Given the description of an element on the screen output the (x, y) to click on. 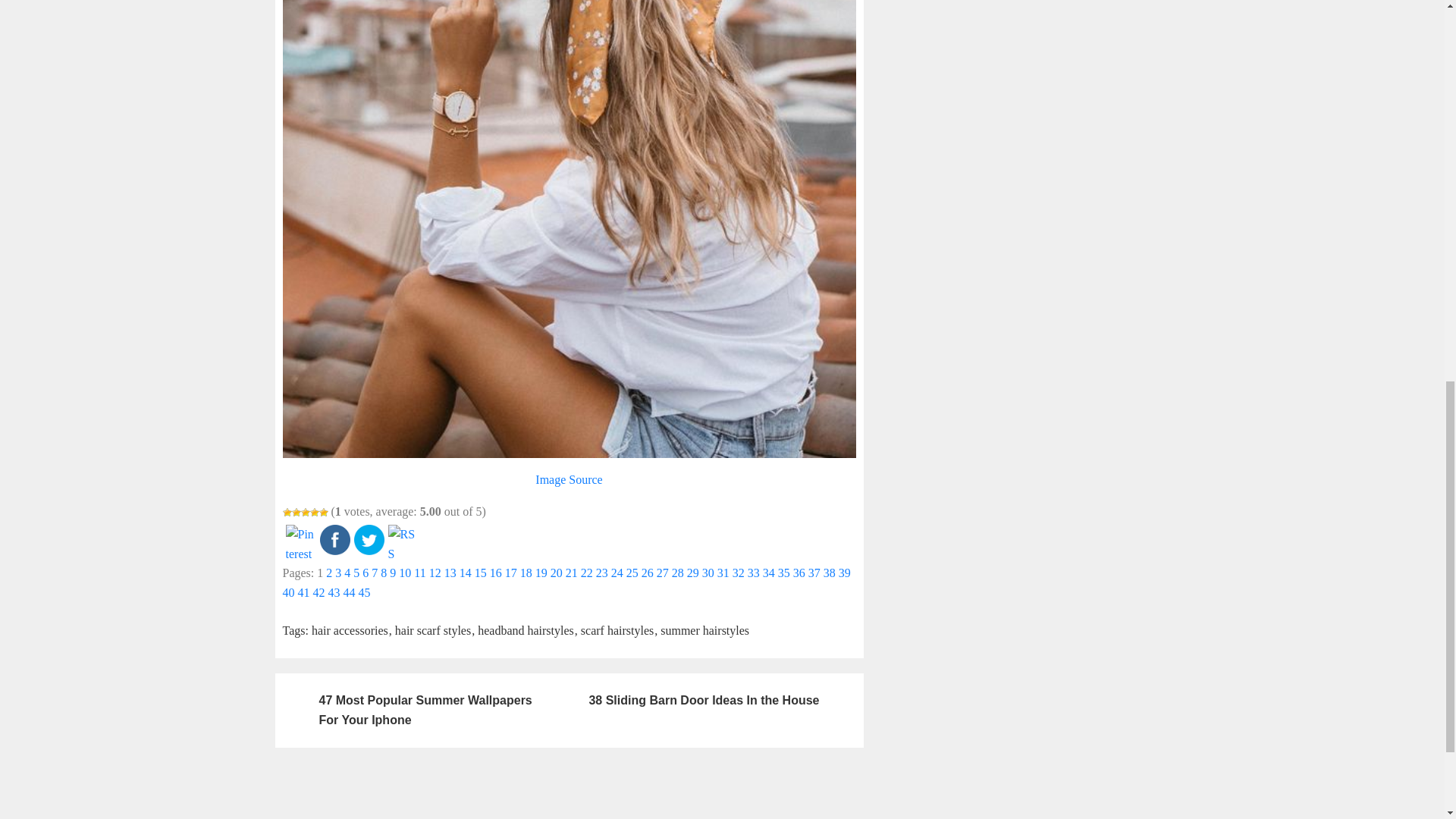
1 Star (286, 511)
3 Stars (303, 511)
5 Stars (322, 511)
16 (495, 572)
2 Stars (295, 511)
14 (465, 572)
Twitter (368, 539)
Facebook (335, 539)
4 Stars (313, 511)
15 (480, 572)
